Given the description of an element on the screen output the (x, y) to click on. 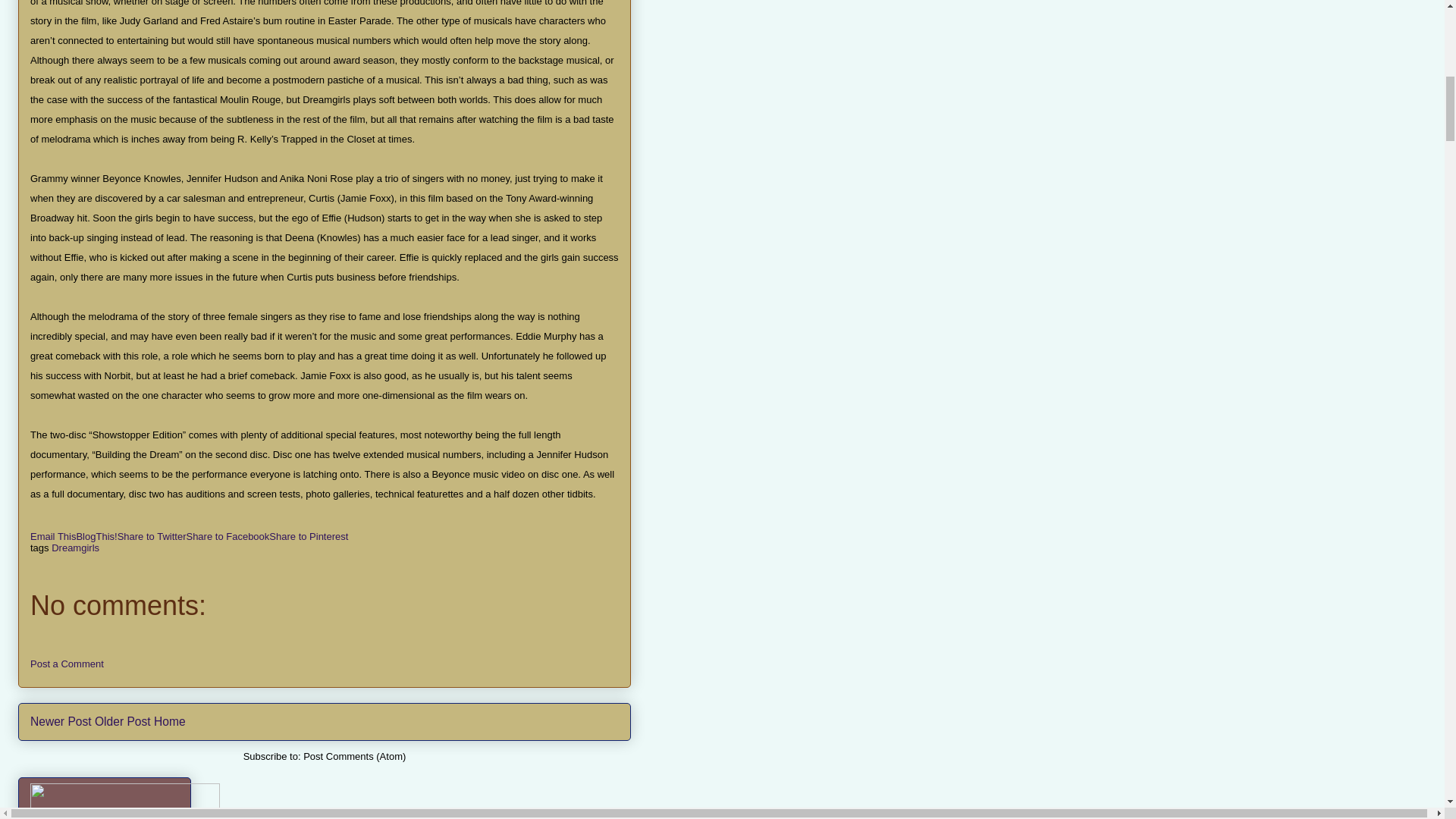
Home (170, 721)
Share to Pinterest (308, 536)
Newer Post (60, 721)
Email This (52, 536)
Share to Pinterest (308, 536)
Share to Twitter (151, 536)
Newer Post (60, 721)
Older Post (122, 721)
Share to Twitter (151, 536)
Dreamgirls (74, 547)
Share to Facebook (227, 536)
BlogThis! (95, 536)
Email This (52, 536)
Share to Facebook (227, 536)
BlogThis! (95, 536)
